Given the description of an element on the screen output the (x, y) to click on. 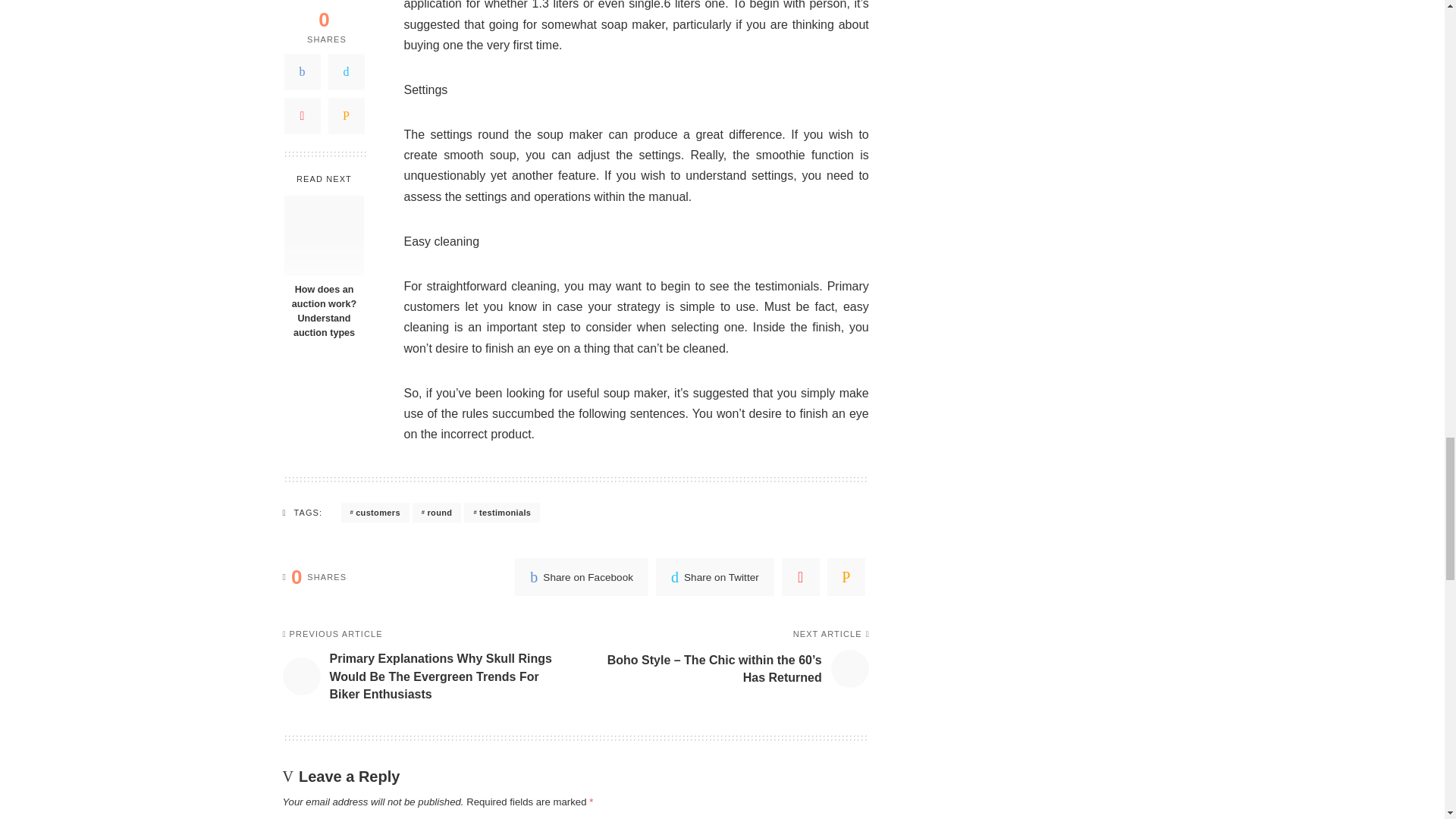
testimonials (502, 512)
round (436, 512)
customers (374, 512)
Share on Twitter (715, 576)
Share on Facebook (581, 576)
